Given the description of an element on the screen output the (x, y) to click on. 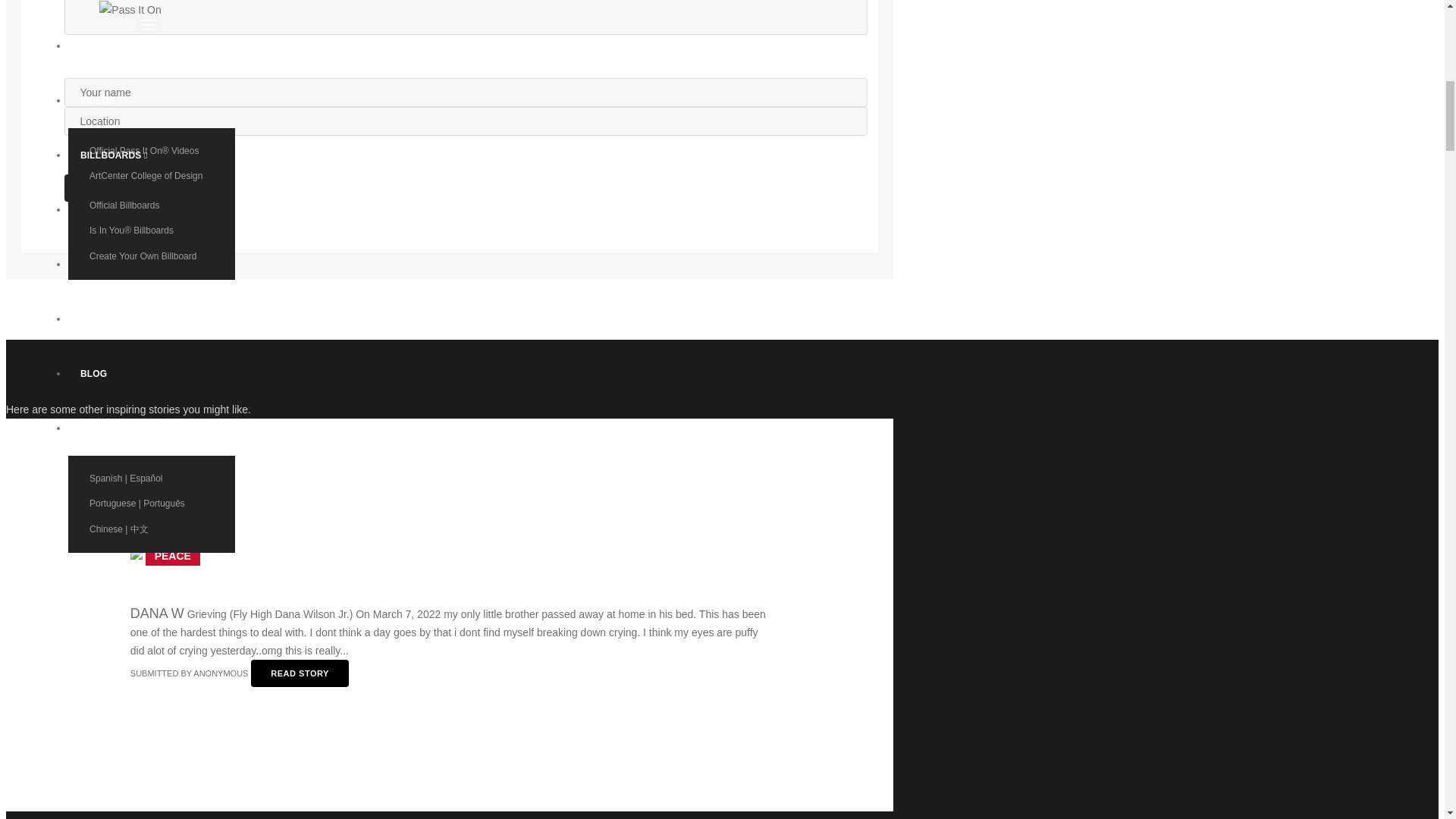
PEACE (172, 555)
READ STORY (299, 673)
Add Comment (117, 187)
Add Comment (117, 187)
